Given the description of an element on the screen output the (x, y) to click on. 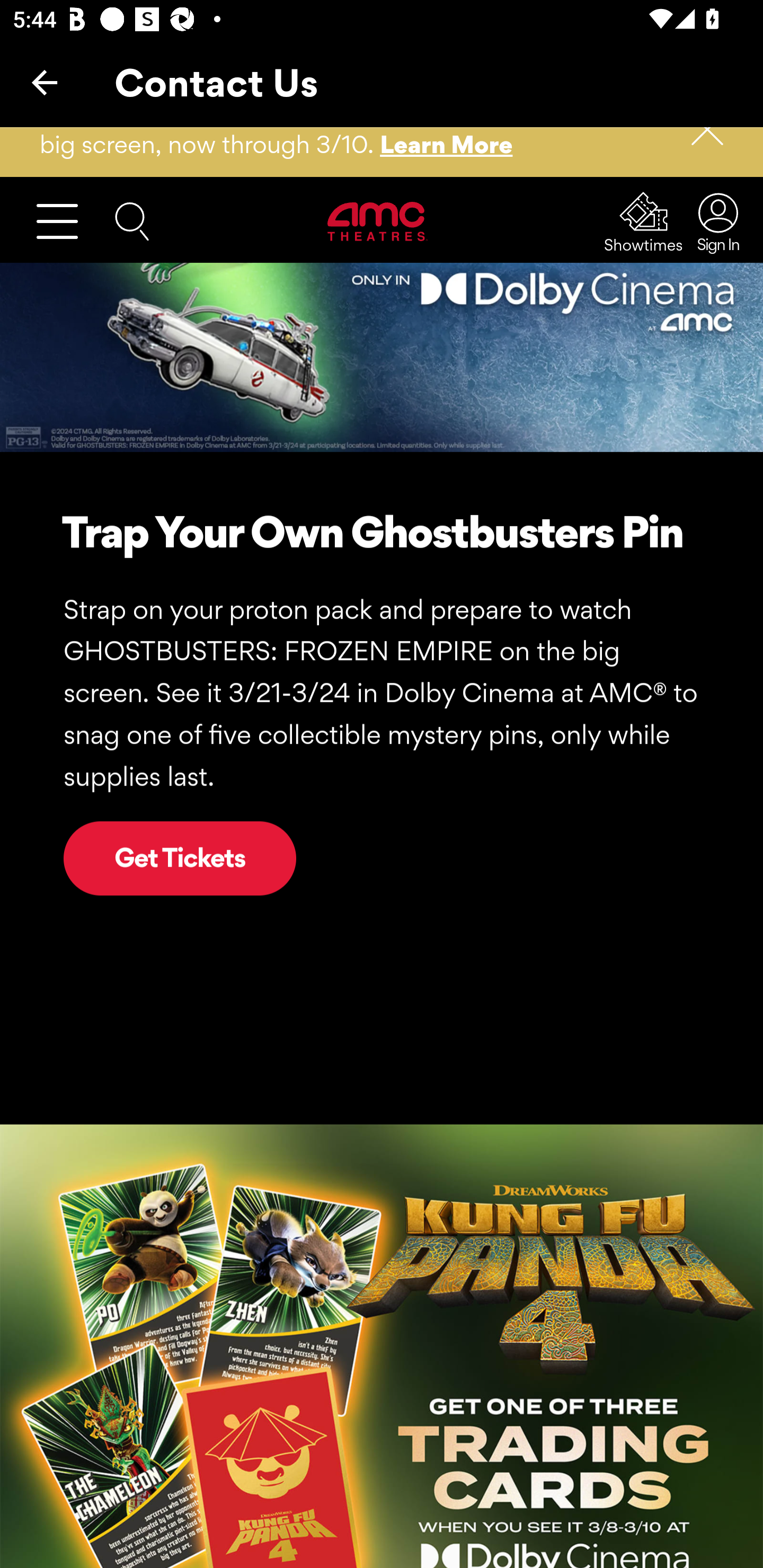
Back (44, 82)
Learn More (446, 143)
Open Menu (64, 221)
Showtimes Showtimes Showtimes (643, 222)
Sign In (713, 221)
Search the AMC website (131, 221)
Visit Home Page AMC Theatres Logo (377, 221)
Get Tickets (180, 858)
